Given the description of an element on the screen output the (x, y) to click on. 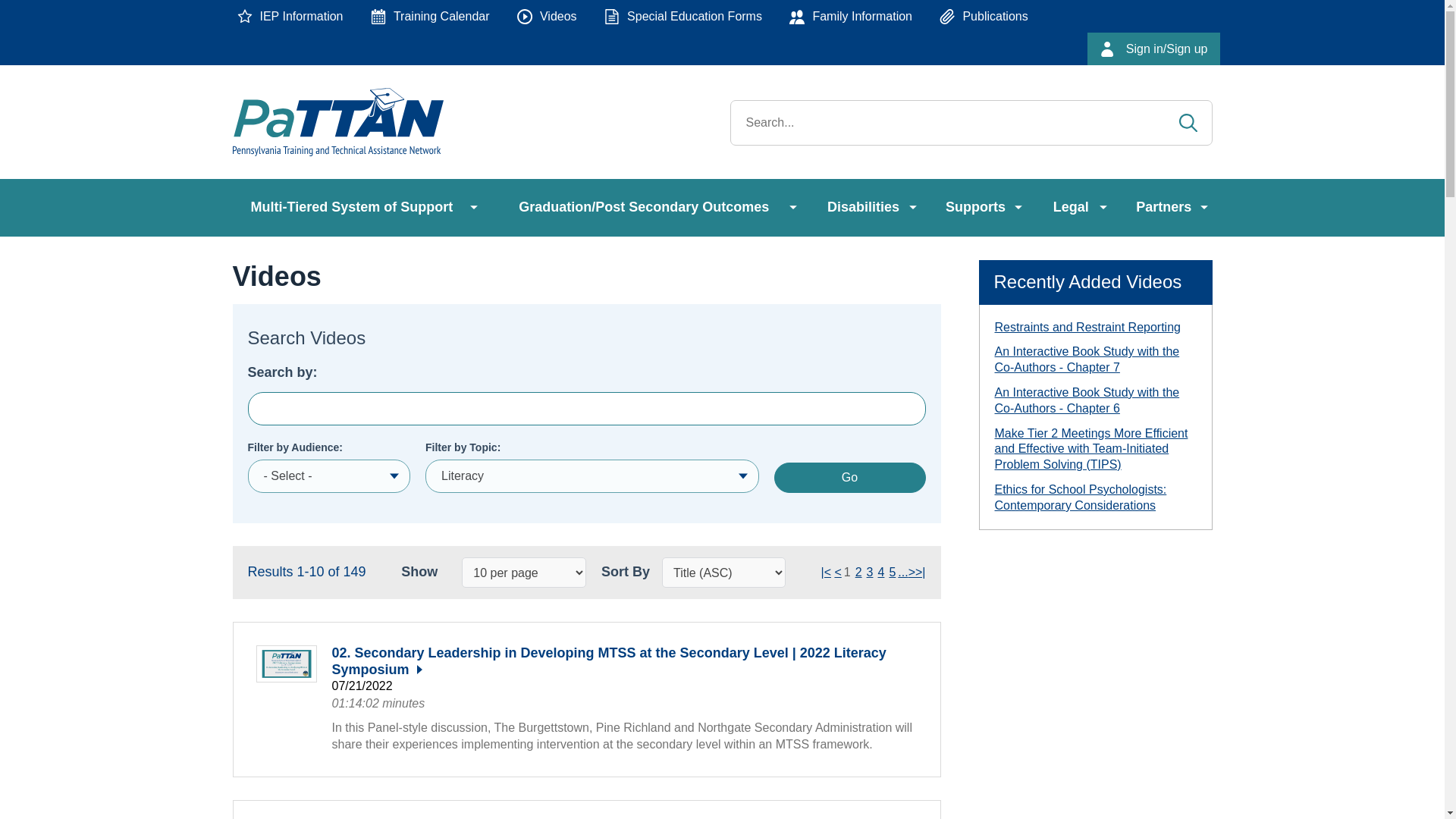
Special Education Forms (683, 16)
Multi-Tiered System of Support (356, 207)
Videos (547, 16)
Go (848, 477)
IEP Information (289, 16)
Family Information (850, 16)
Publications (983, 16)
Disabilities (868, 207)
Supports (980, 207)
Training Calendar (430, 16)
Submit Search (1186, 122)
